Given the description of an element on the screen output the (x, y) to click on. 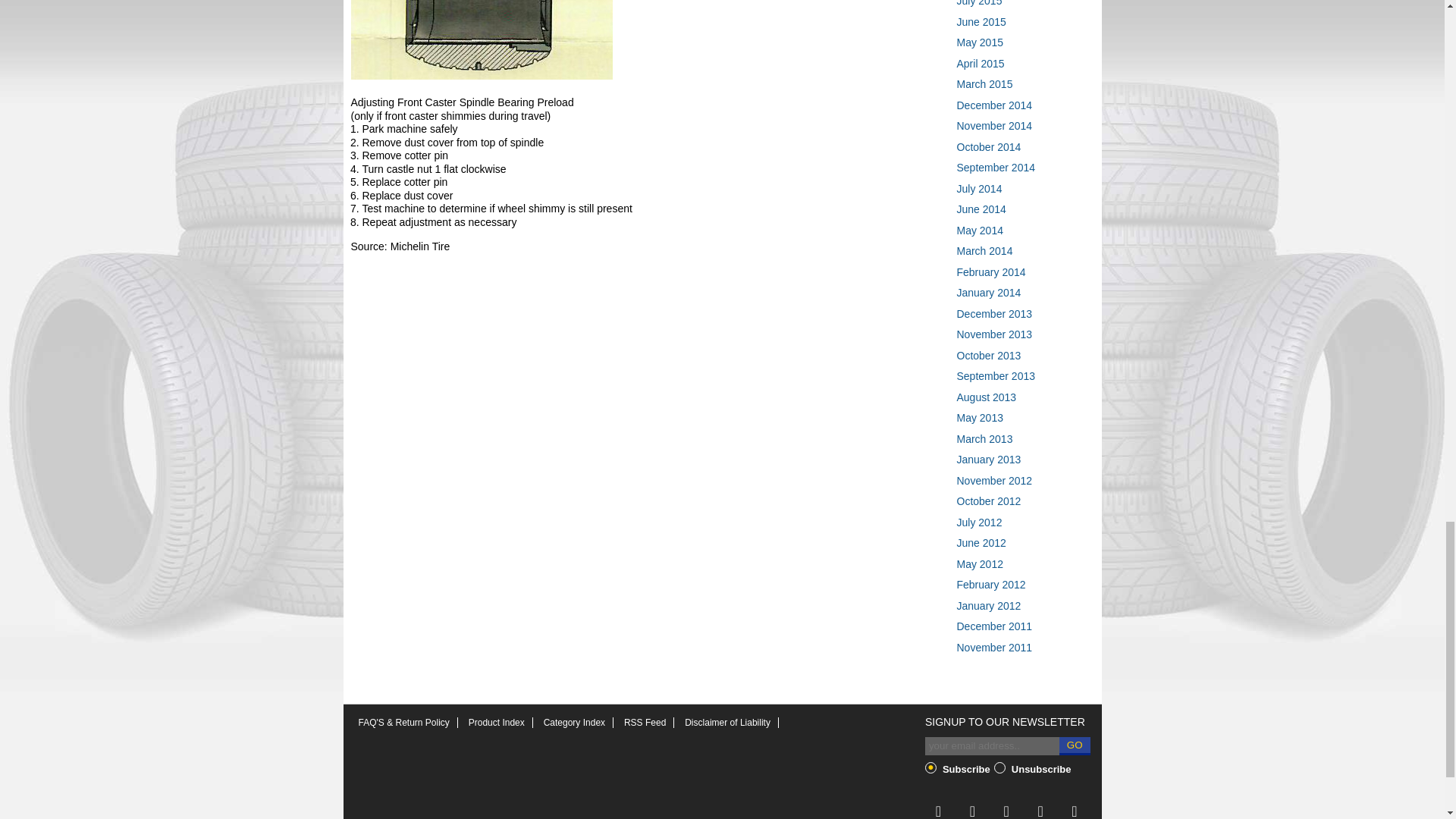
Like Us on Facebook (972, 808)
Subscribe to our Channel (1006, 808)
Subscribe to our Blog (1074, 808)
Follow Us on Instagram (1040, 808)
Follow Us on Twitter (938, 808)
